Given the description of an element on the screen output the (x, y) to click on. 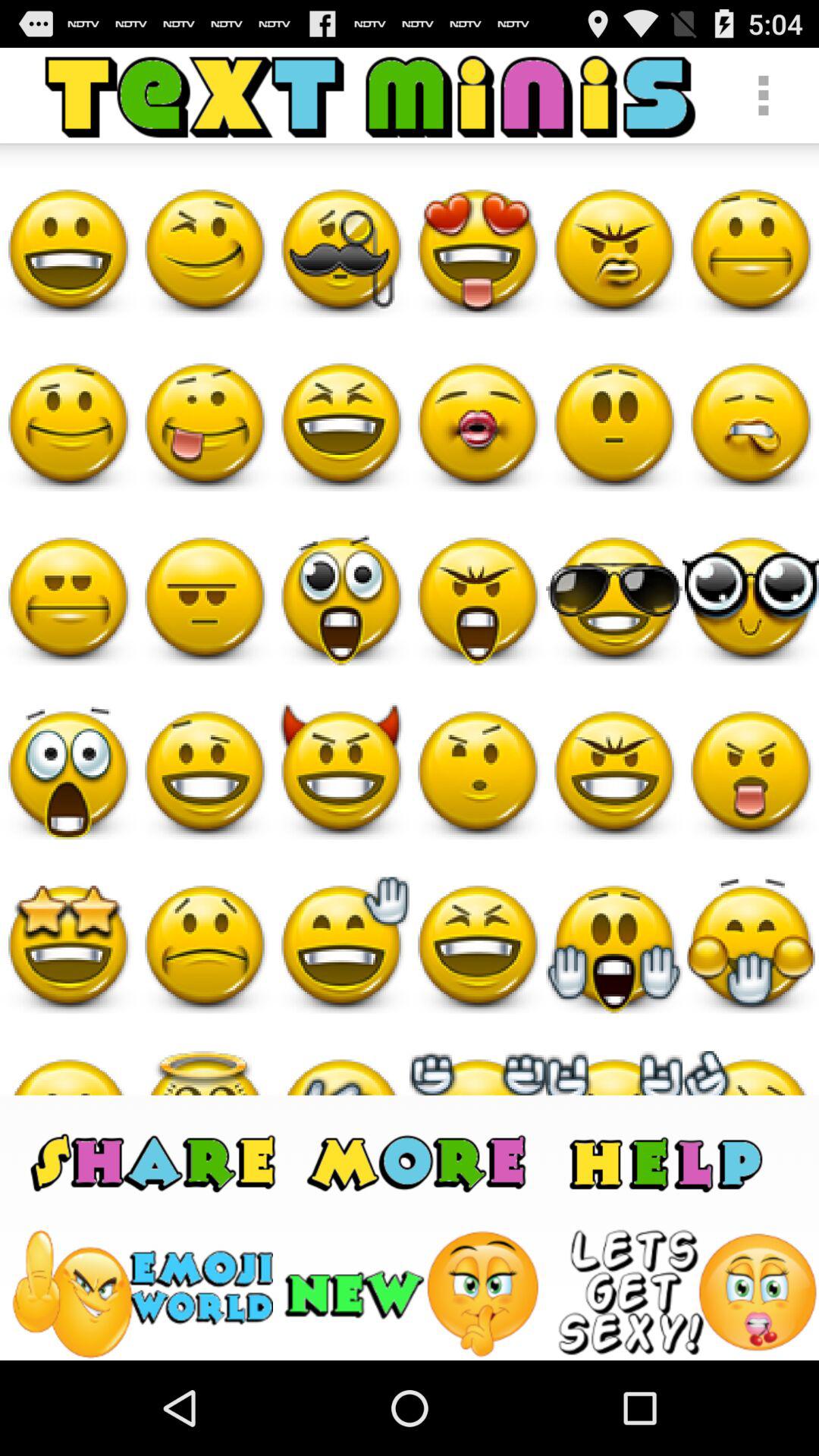
share (153, 1161)
